Given the description of an element on the screen output the (x, y) to click on. 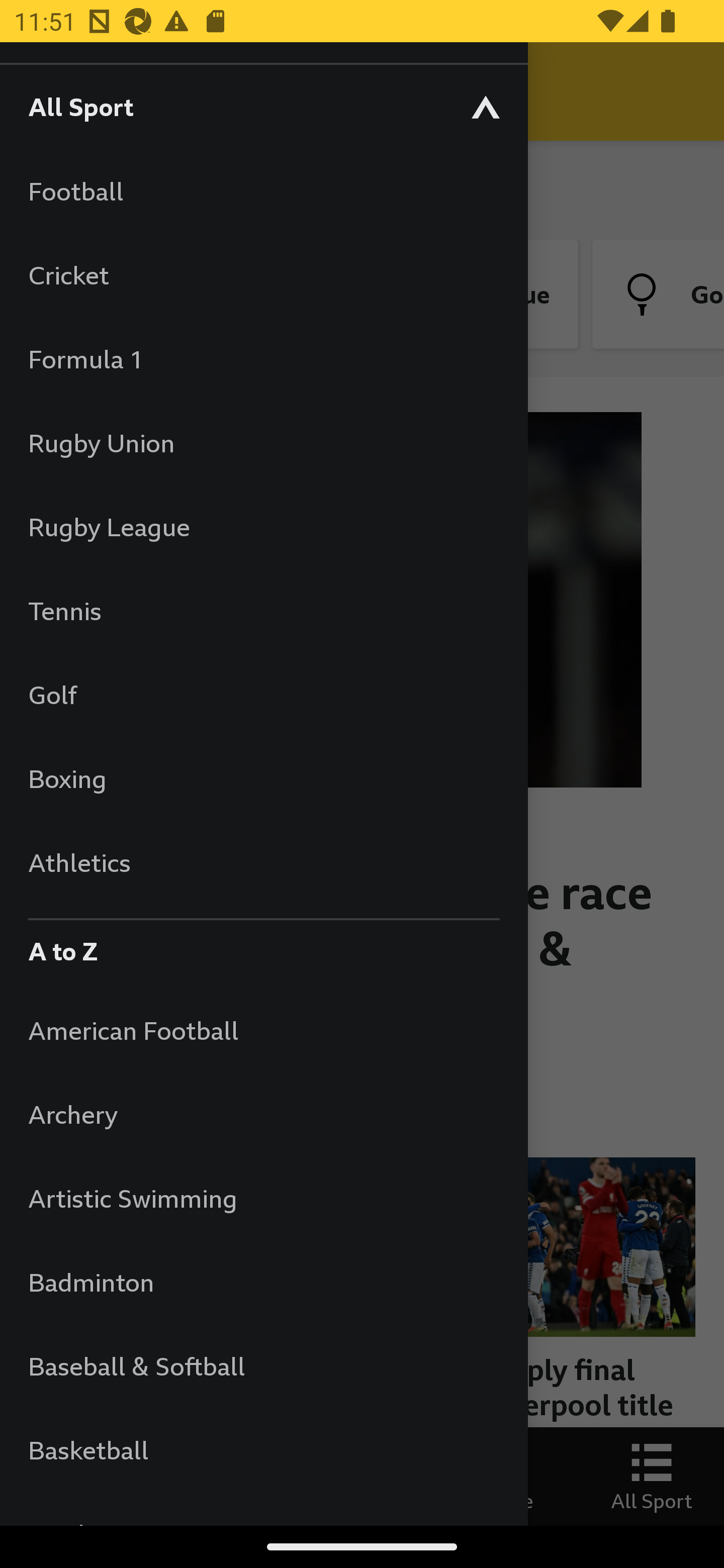
All Sport (263, 105)
Football (263, 190)
Cricket (263, 274)
Formula 1 (263, 358)
Rugby Union (263, 441)
Rugby League (263, 526)
Tennis (263, 609)
Golf (263, 694)
Boxing (263, 778)
Athletics (263, 862)
A to Z (263, 945)
American Football (263, 1029)
Archery (263, 1114)
Artistic Swimming (263, 1197)
Badminton (263, 1282)
Baseball & Softball (263, 1365)
Basketball (263, 1450)
